Given the description of an element on the screen output the (x, y) to click on. 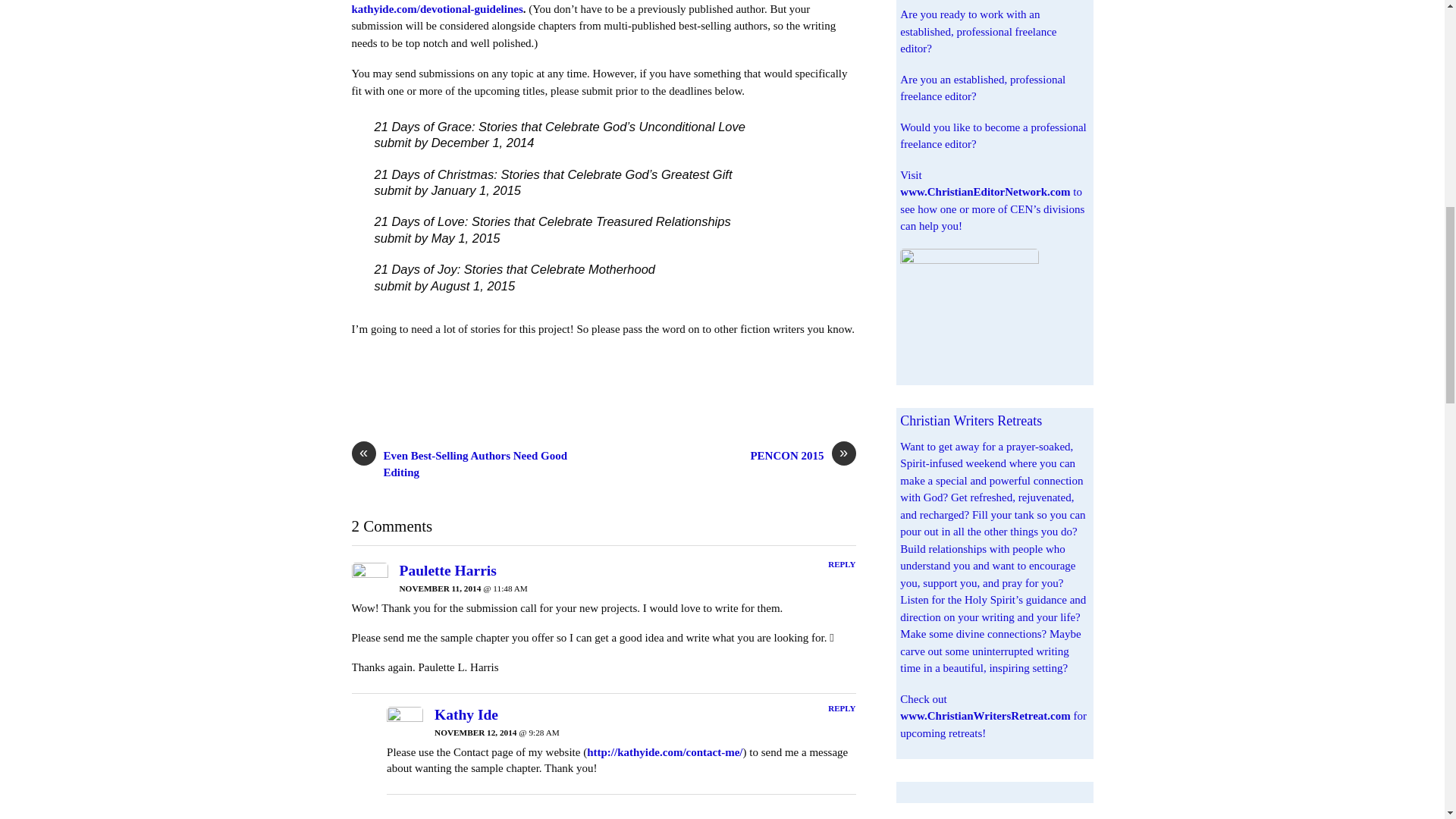
Paulette Harris (447, 570)
REPLY (842, 563)
Devotional Guidelines (437, 9)
